Given the description of an element on the screen output the (x, y) to click on. 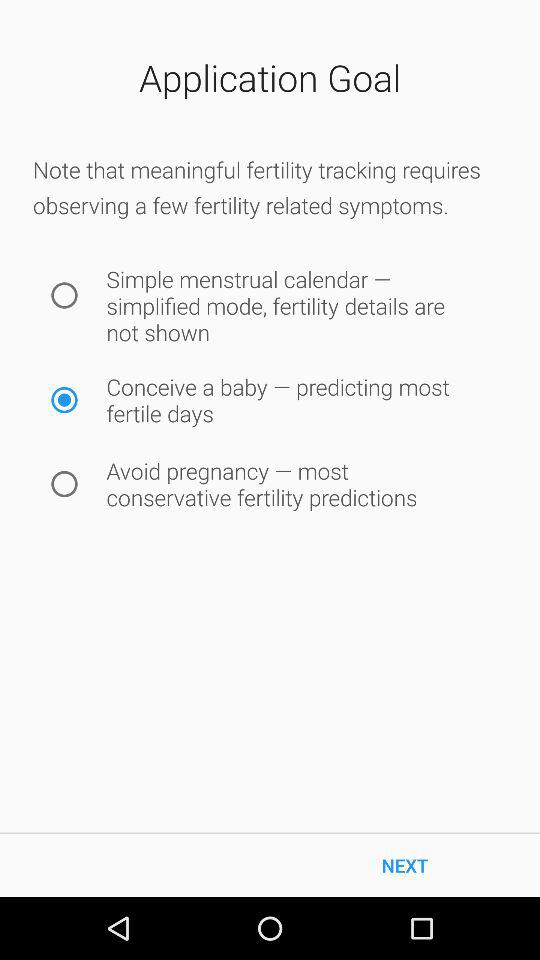
choose the icon at the top left corner (64, 295)
